Given the description of an element on the screen output the (x, y) to click on. 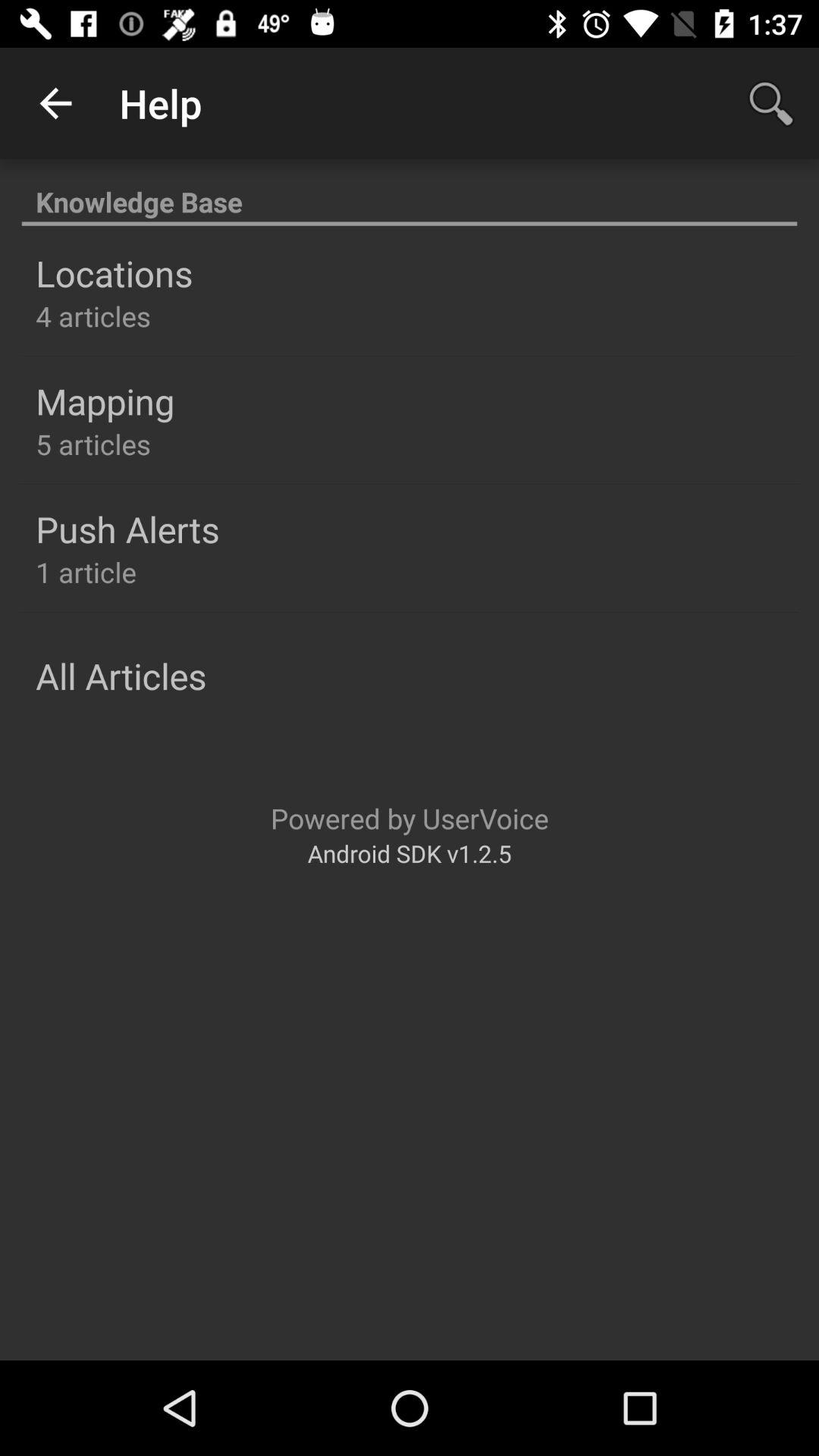
press item above the knowledge base icon (771, 103)
